Given the description of an element on the screen output the (x, y) to click on. 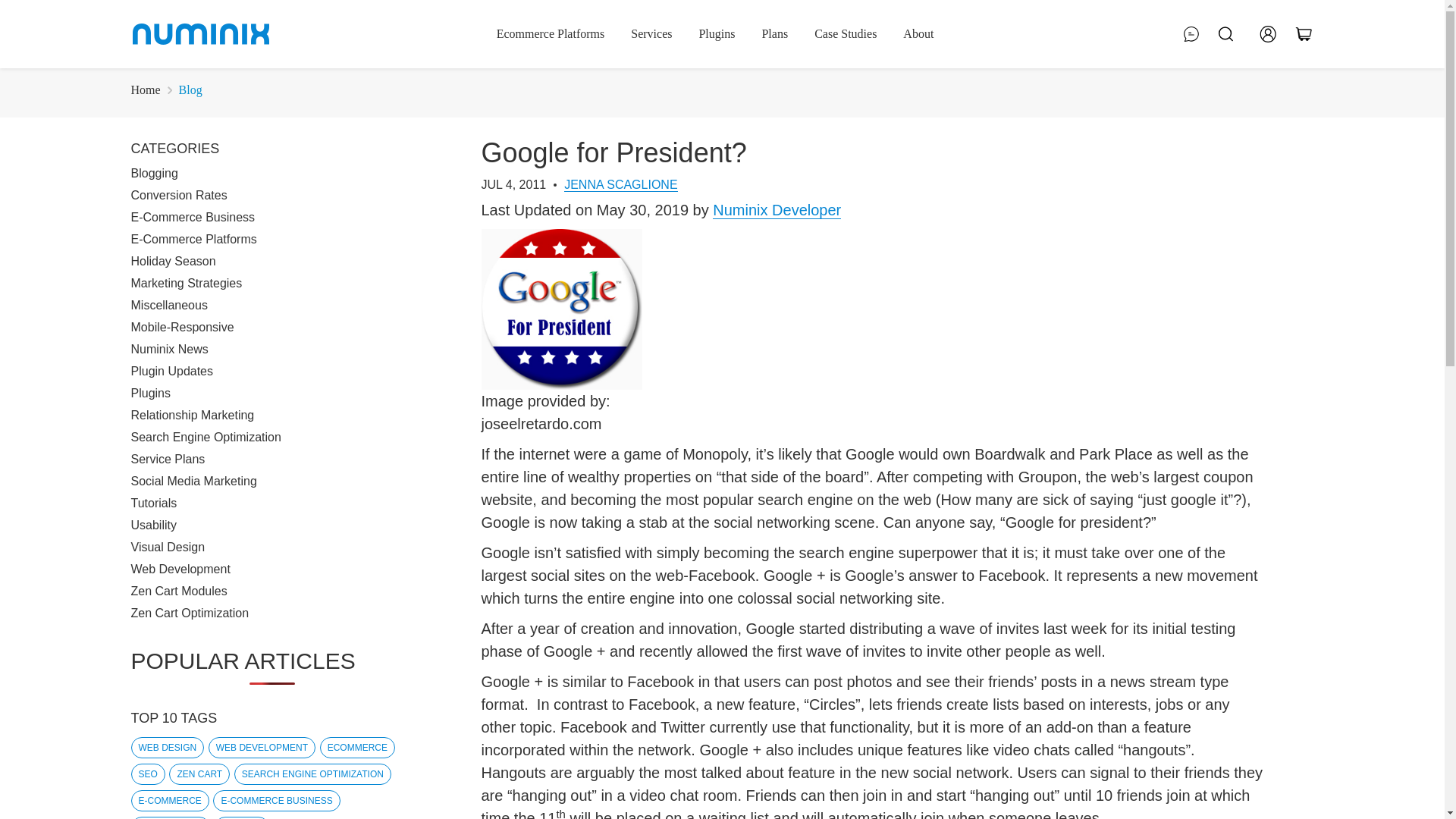
61 topics (357, 747)
Permalink to Google for President? (612, 152)
56 topics (147, 773)
61 topics (261, 747)
52 topics (199, 773)
32 topics (169, 800)
27 topics (275, 800)
View all posts by Jenna Scaglione (620, 184)
22 topics (241, 817)
35 topics (312, 773)
